Given the description of an element on the screen output the (x, y) to click on. 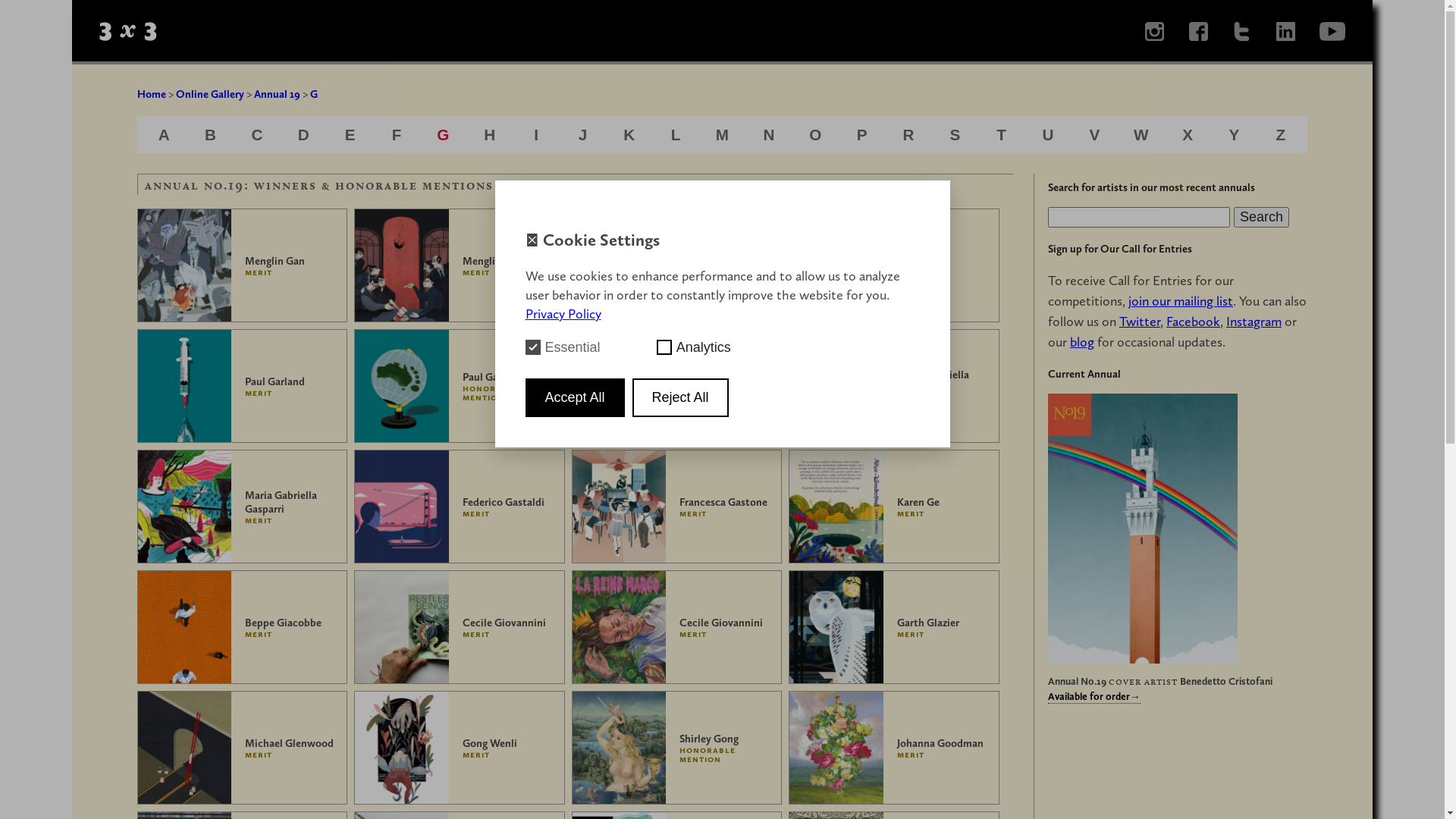
C Element type: text (256, 134)
Paul Garland
merit Element type: text (242, 385)
blog Element type: text (1082, 341)
Online Gallery Element type: text (209, 93)
Cecile Giovannini
merit Element type: text (676, 627)
H Element type: text (489, 134)
Twitter Element type: text (1139, 321)
M Element type: text (721, 134)
Paul Garland
honorable mention Element type: text (676, 385)
G Element type: text (442, 134)
Maria Gabriella Gasparri
merit Element type: text (893, 385)
Facebook Element type: text (1193, 321)
O Element type: text (815, 134)
Annual 19 Element type: text (277, 93)
X Element type: text (1187, 134)
Y Element type: text (1234, 134)
U Element type: text (1048, 134)
Federico Gastaldi
merit Element type: text (459, 506)
Instagram Element type: text (1253, 321)
Maria Gabriella Gasparri
merit Element type: text (242, 506)
W Element type: text (1140, 134)
Beppe Giacobbe
merit Element type: text (242, 627)
Menglin Gan
merit Element type: text (676, 265)
J Element type: text (582, 134)
I Element type: text (535, 134)
G Element type: text (313, 93)
Z Element type: text (1280, 134)
Home Element type: text (151, 93)
Johanna Goodman
merit Element type: text (893, 747)
Karen Ge
merit Element type: text (893, 506)
B Element type: text (210, 134)
Reject All Element type: text (680, 397)
Privacy Policy Element type: text (562, 313)
N Element type: text (768, 134)
L Element type: text (675, 134)
K Element type: text (628, 134)
Yibao Gao
merit Element type: text (893, 265)
Cecile Giovannini
merit Element type: text (459, 627)
Menglin Gan
merit Element type: text (242, 265)
S Element type: text (954, 134)
Menglin Gan
merit Element type: text (459, 265)
Accept All Element type: text (574, 397)
F Element type: text (396, 134)
Shirley Gong
honorable mention Element type: text (676, 747)
V Element type: text (1093, 134)
Michael Glenwood
merit Element type: text (242, 747)
R Element type: text (907, 134)
Paul Garland
honorable mention Element type: text (459, 385)
T Element type: text (1001, 134)
Garth Glazier
merit Element type: text (893, 627)
E Element type: text (350, 134)
A Element type: text (163, 134)
join our mailing list Element type: text (1180, 300)
Search Element type: text (1261, 217)
D Element type: text (303, 134)
Francesca Gastone
merit Element type: text (676, 506)
Gong Wenli
merit Element type: text (459, 747)
P Element type: text (861, 134)
